Given the description of an element on the screen output the (x, y) to click on. 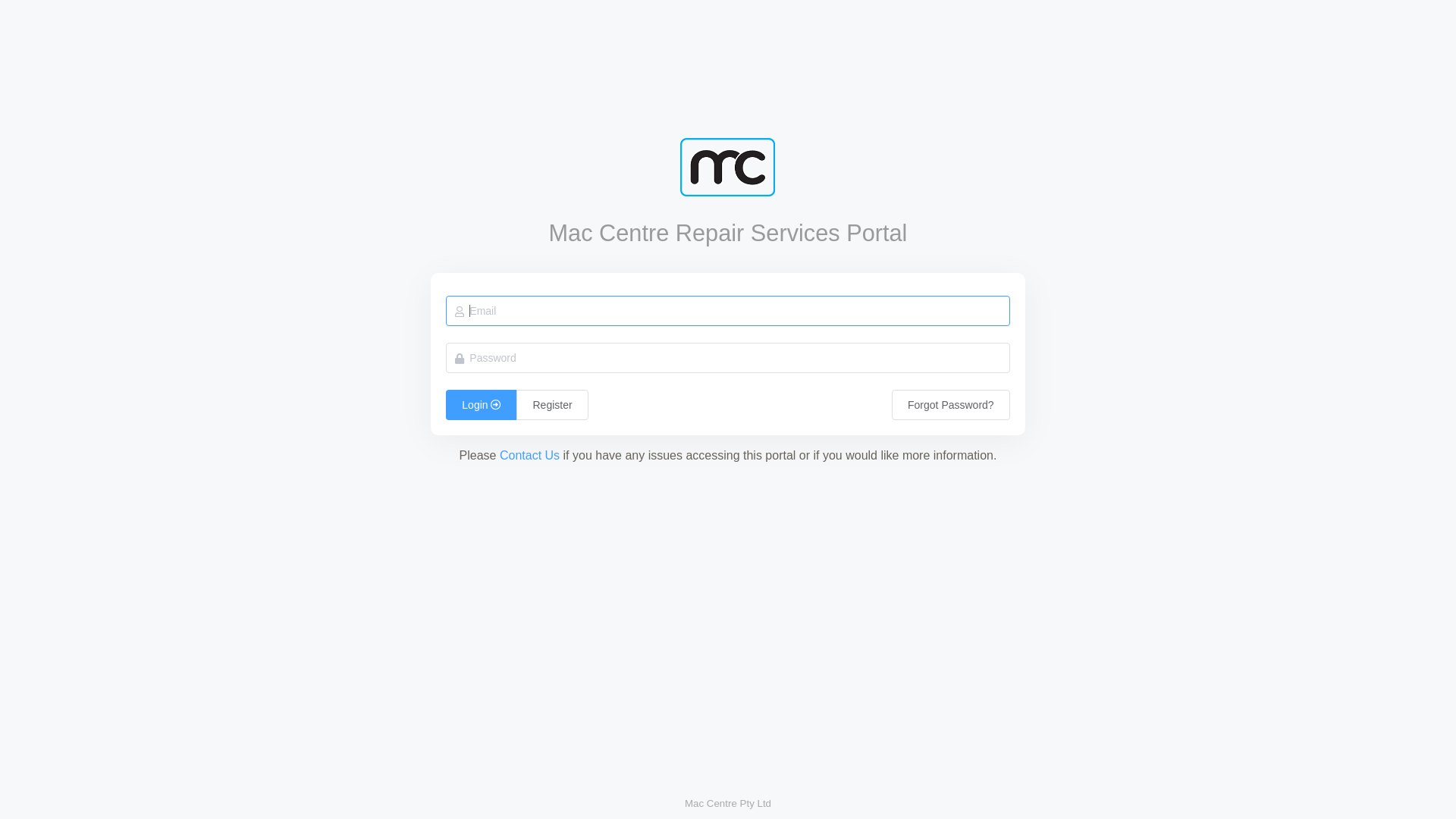
Login Element type: text (477, 404)
Register Element type: text (545, 404)
Forgot Password? Element type: text (950, 404)
Contact Us Element type: text (529, 455)
